Given the description of an element on the screen output the (x, y) to click on. 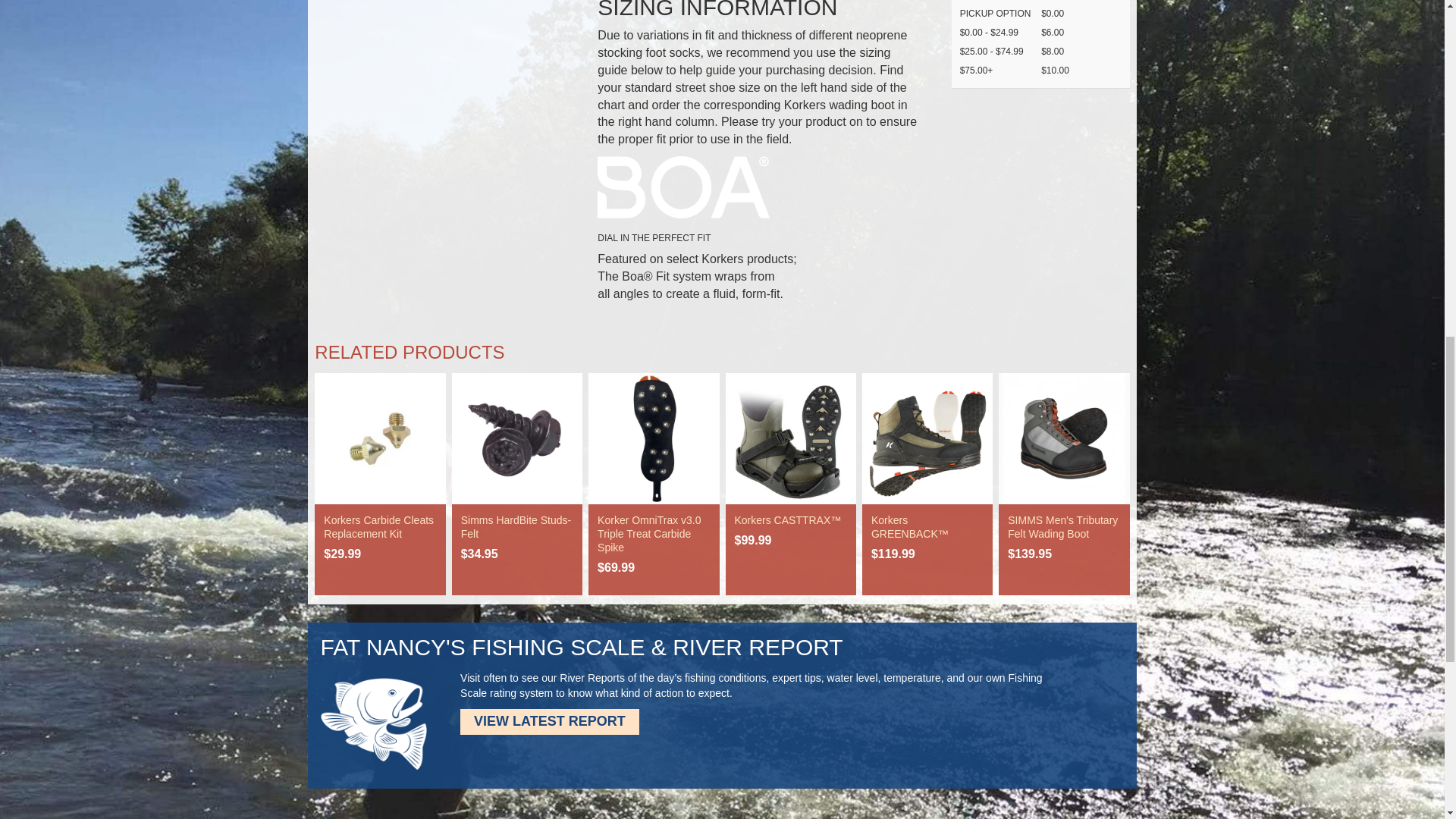
Korkers Carbide Cleats Replacement Kit (378, 526)
Korkers Carbide Cleats Replacement Kit (379, 438)
